Given the description of an element on the screen output the (x, y) to click on. 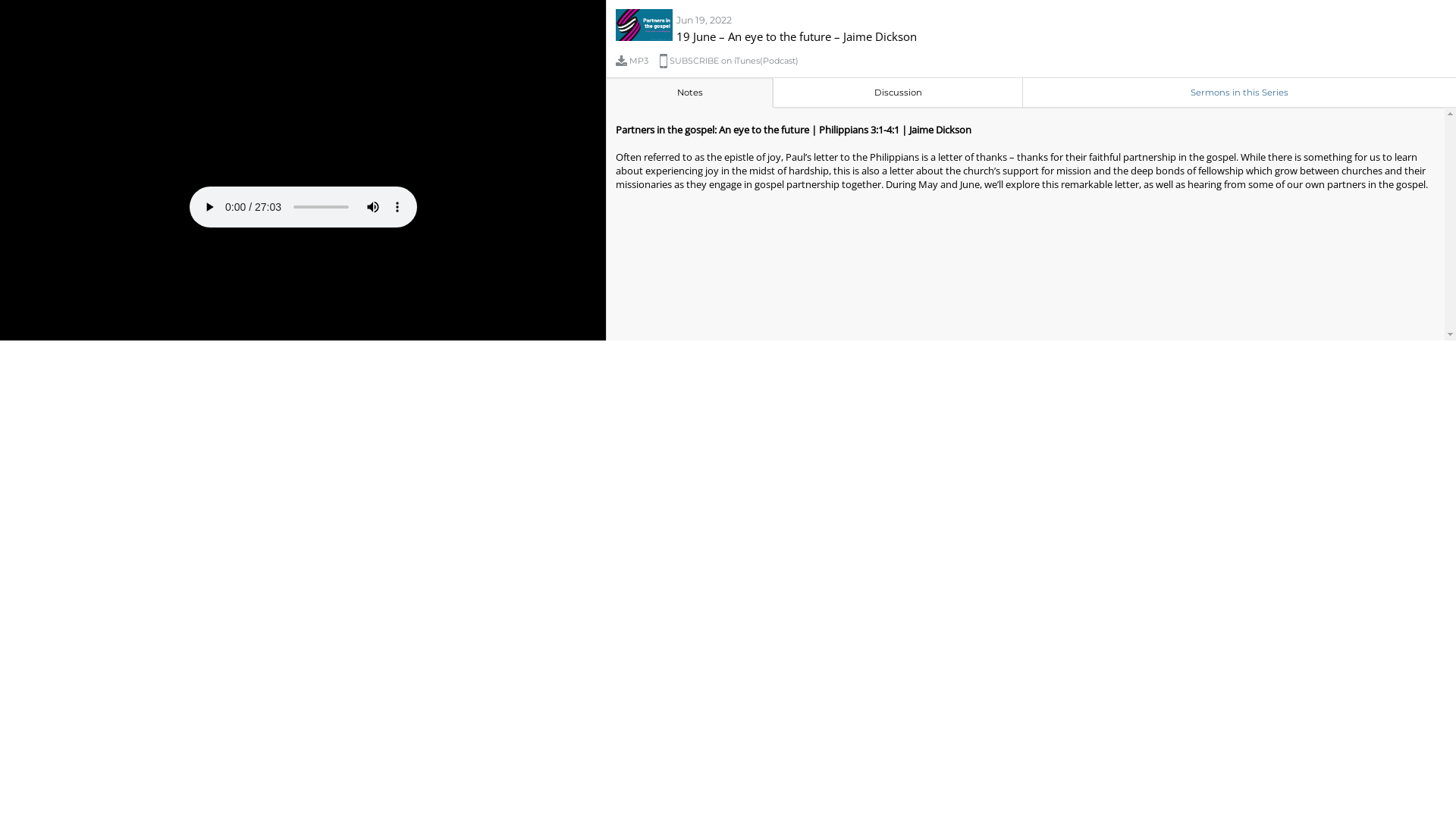
SUBSCRIBE on iTunes(Podcast) Element type: text (734, 60)
Sermons in this Series Element type: text (1239, 92)
MP3 Element type: text (637, 60)
